Given the description of an element on the screen output the (x, y) to click on. 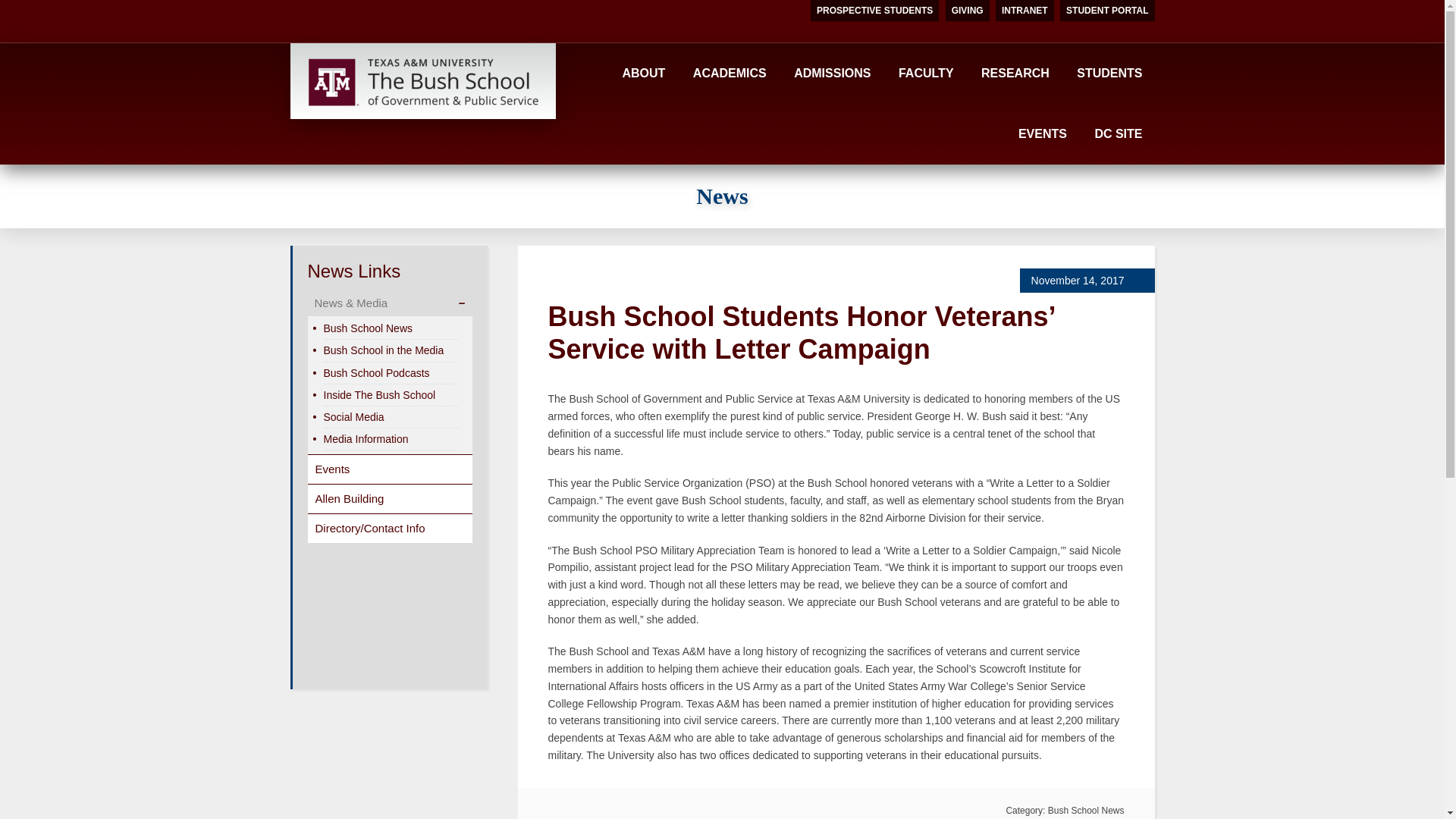
GIVING (967, 10)
INTRANET (1024, 10)
PROSPECTIVE STUDENTS (874, 10)
ABOUT (643, 73)
STUDENT PORTAL (1106, 10)
ACADEMICS (729, 73)
